Given the description of an element on the screen output the (x, y) to click on. 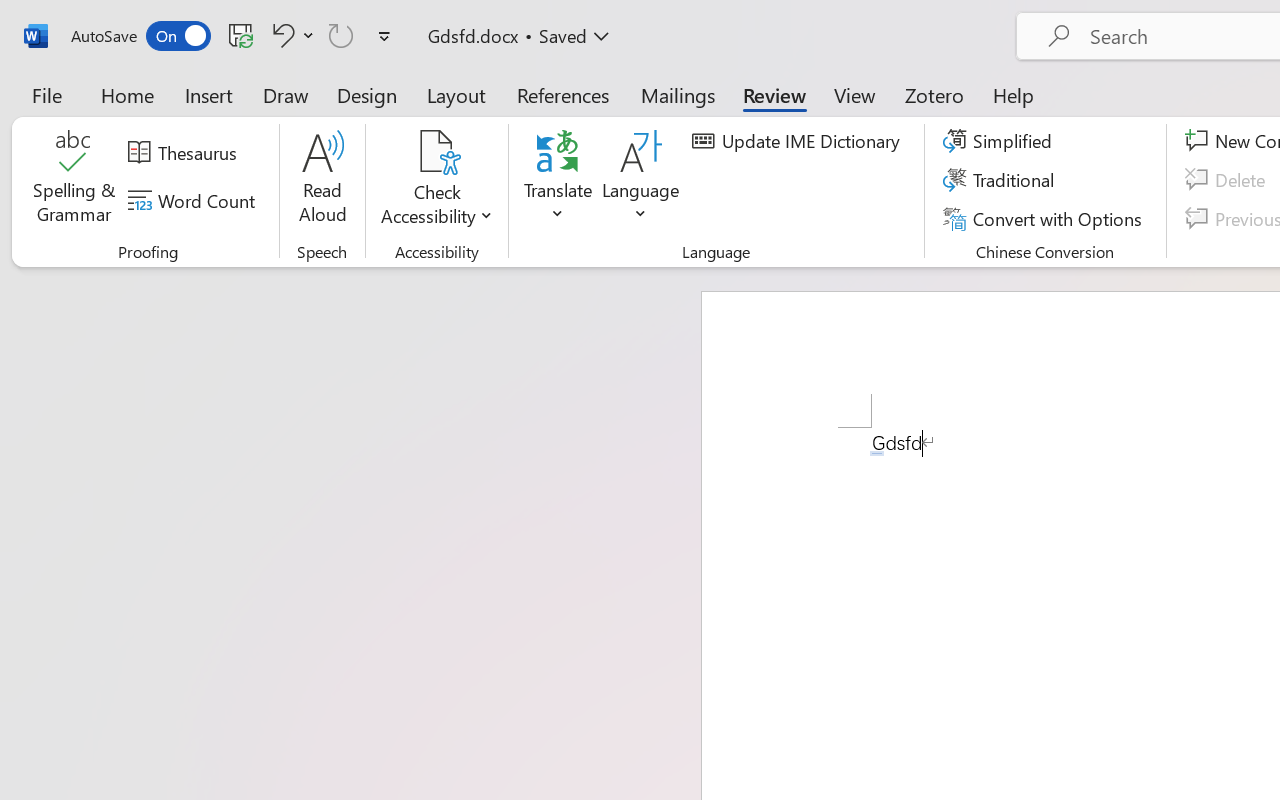
Translate (558, 179)
Language (641, 179)
Convert with Options... (1045, 218)
Undo AutoCorrect (290, 35)
Traditional (1001, 179)
Action: Undo Auto Actions (877, 453)
Thesaurus... (185, 153)
